Given the description of an element on the screen output the (x, y) to click on. 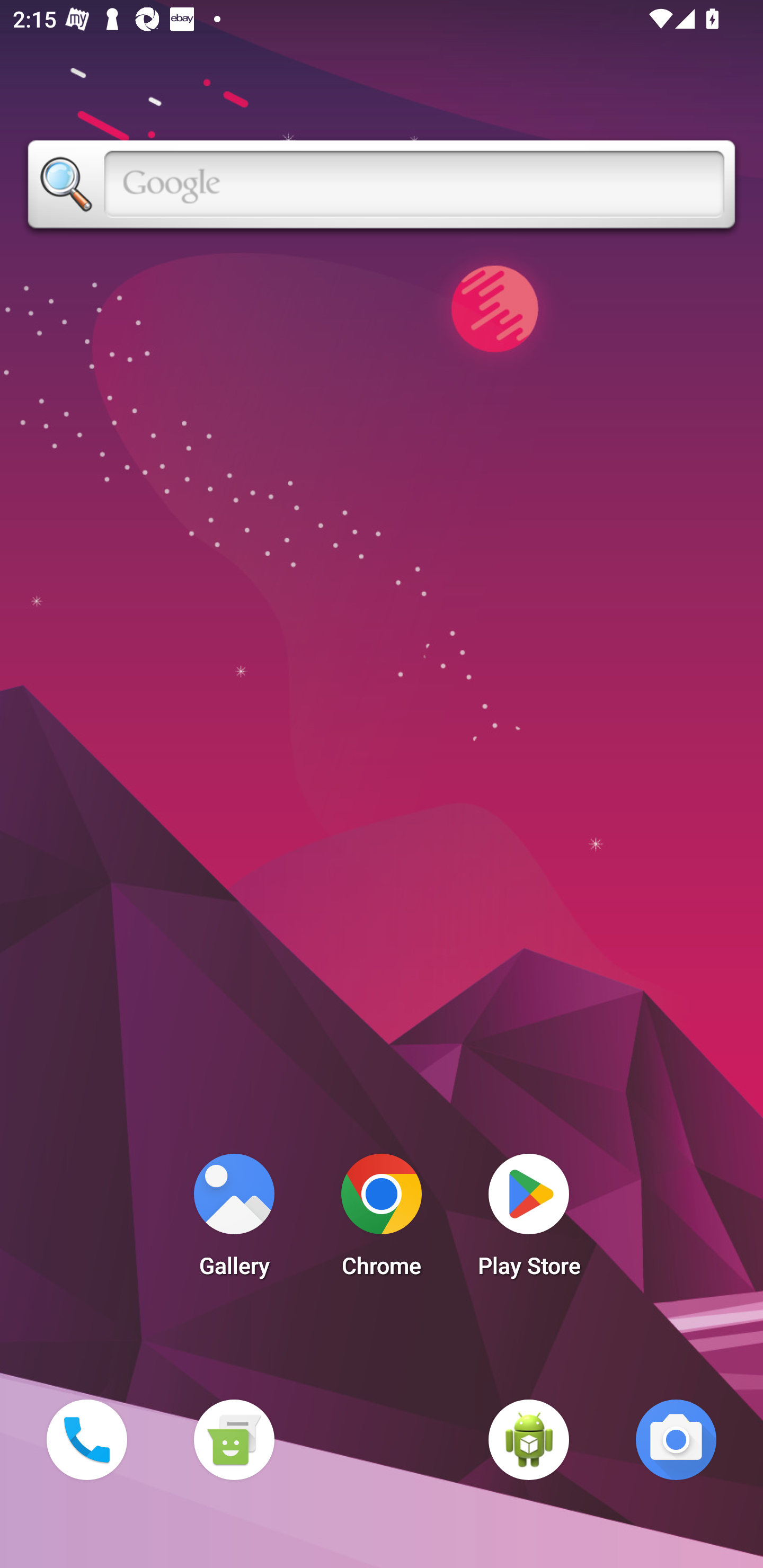
Gallery (233, 1220)
Chrome (381, 1220)
Play Store (528, 1220)
Phone (86, 1439)
Messaging (233, 1439)
WebView Browser Tester (528, 1439)
Camera (676, 1439)
